Given the description of an element on the screen output the (x, y) to click on. 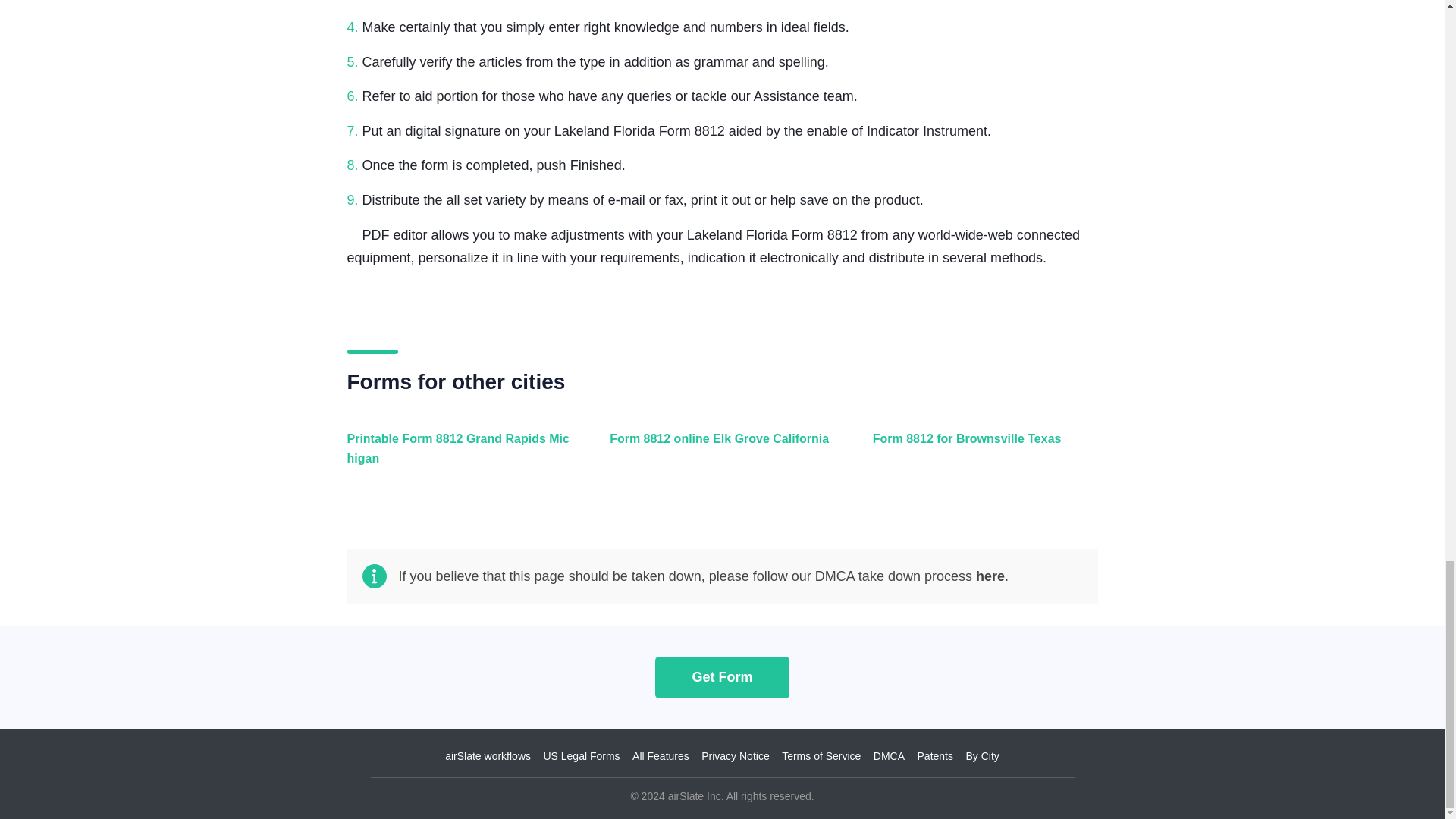
Privacy Notice (734, 756)
airSlate workflows (488, 756)
By City (981, 756)
Printable Form 8812 Grand Rapids Michigan (456, 456)
Get Form (722, 676)
Terms of Service (820, 756)
Form 8812 online Elk Grove California (718, 456)
All Features (659, 756)
US Legal Forms (581, 756)
DMCA (888, 756)
